Given the description of an element on the screen output the (x, y) to click on. 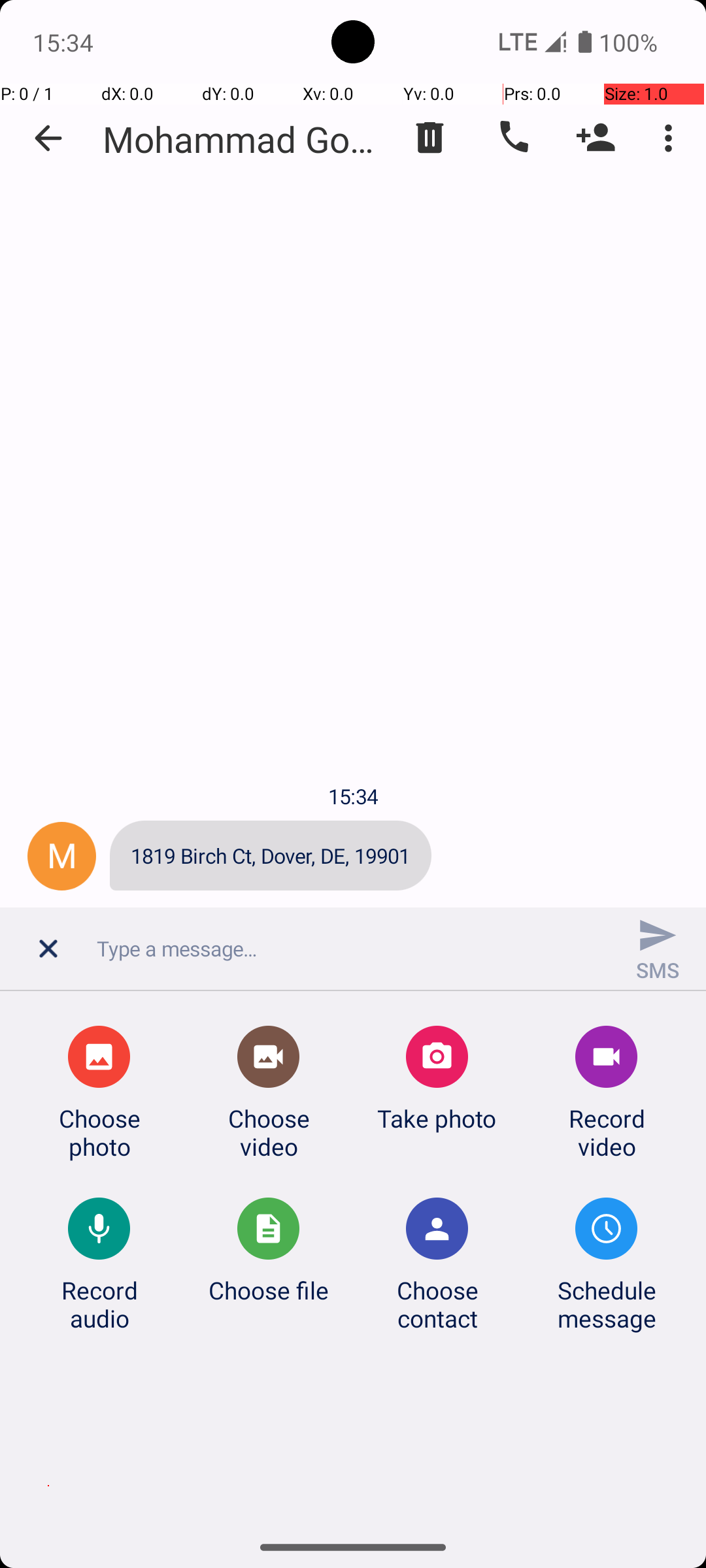
Mohammad Gonzalez Element type: android.widget.TextView (241, 138)
1819 Birch Ct, Dover, DE, 19901 Element type: android.widget.TextView (270, 855)
Choose video Element type: android.widget.TextView (268, 1131)
Record video Element type: android.widget.TextView (606, 1131)
Record audio Element type: android.widget.TextView (98, 1303)
Choose contact Element type: android.widget.TextView (436, 1303)
Schedule message Element type: android.widget.TextView (606, 1303)
